Given the description of an element on the screen output the (x, y) to click on. 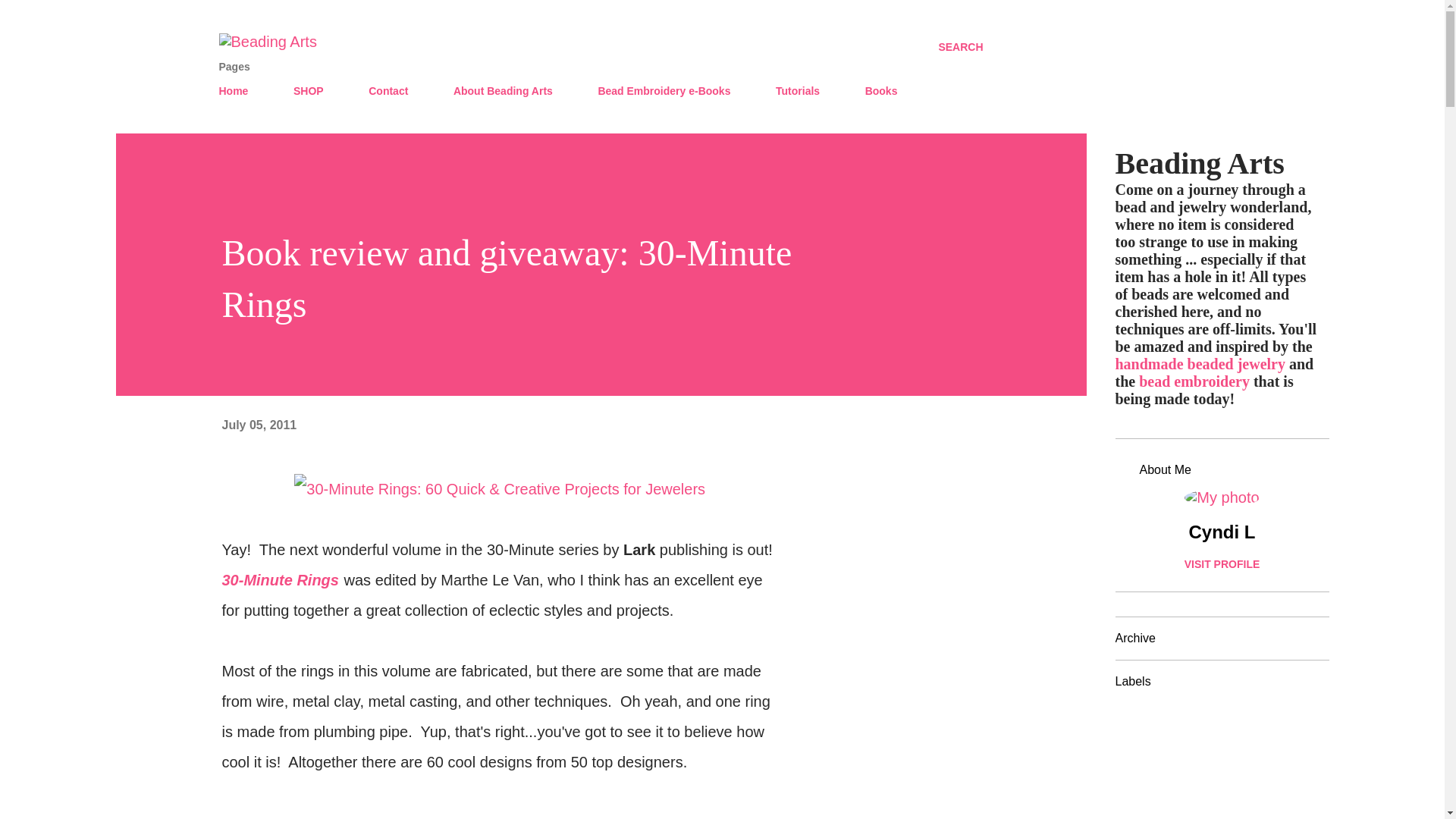
Bead Embroidery e-Books (663, 91)
Books (881, 91)
Contact (387, 91)
About Beading Arts (503, 91)
Home (237, 91)
SEARCH (959, 46)
SHOP (308, 91)
July 05, 2011 (259, 424)
Tutorials (797, 91)
30-Minute Rings (279, 579)
permanent link (259, 424)
